Given the description of an element on the screen output the (x, y) to click on. 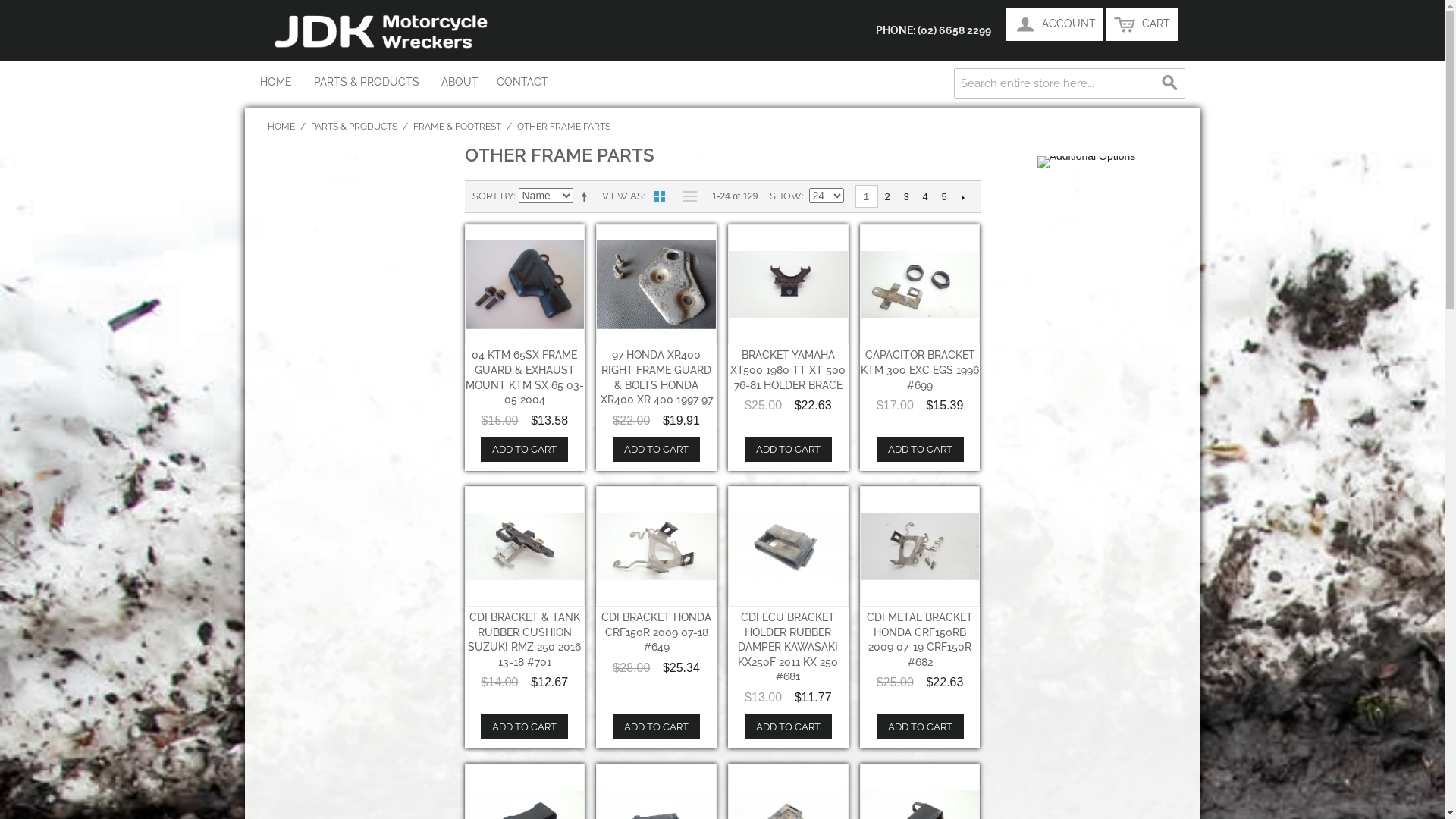
CDI METAL BRACKET HONDA CRF150RB 2009 07-19 CRF150R #682 Element type: text (919, 639)
Bracket Yamaha XT500 1980 TT XT 500 76-81 Holder Brace Element type: hover (788, 284)
ADD TO CART Element type: text (523, 726)
04 KTM 65SX Frame Guard & Exhaust Mount KTM SX 65 03-05 2004 Element type: hover (524, 284)
NEXT Element type: text (962, 196)
ADD TO CART Element type: text (787, 448)
Search Element type: hover (1169, 83)
BRACKET YAMAHA XT500 1980 TT XT 500 76-81 HOLDER BRACE Element type: text (787, 369)
04 KTM 65SX FRAME GUARD & EXHAUST MOUNT KTM SX 65 03-05 2004 Element type: text (524, 376)
Additional Options Element type: hover (1086, 162)
ACCOUNT Element type: text (1053, 23)
ADD TO CART Element type: text (919, 726)
PARTS & PRODUCTS Element type: text (353, 126)
5 Element type: text (943, 196)
CDI Metal Bracket Honda CRF150RB 2009 07-19 CRF150R #682 Element type: hover (919, 546)
CONTACT Element type: text (521, 81)
CDI Bracket Honda CRF150R 2009 07-18 #649 Element type: hover (656, 546)
CART Element type: text (1140, 23)
ADD TO CART Element type: text (655, 448)
PARTS & PRODUCTS Element type: text (365, 81)
ADD TO CART Element type: text (523, 448)
4 Element type: text (925, 196)
HOME Element type: text (275, 81)
3 Element type: text (905, 196)
HOME Element type: text (280, 126)
ADD TO CART Element type: text (655, 726)
2 Element type: text (887, 196)
List Element type: text (685, 196)
Capacitor Bracket KTM 300 EXC EGS 1996 #699 Element type: hover (919, 284)
CAPACITOR BRACKET KTM 300 EXC EGS 1996 #699 Element type: text (919, 369)
ADD TO CART Element type: text (919, 448)
FRAME & FOOTREST Element type: text (456, 126)
Set Descending Direction Element type: text (585, 196)
ADD TO CART Element type: text (787, 726)
CDI BRACKET HONDA CRF150R 2009 07-18 #649 Element type: text (656, 631)
ABOUT Element type: text (459, 81)
